Given the description of an element on the screen output the (x, y) to click on. 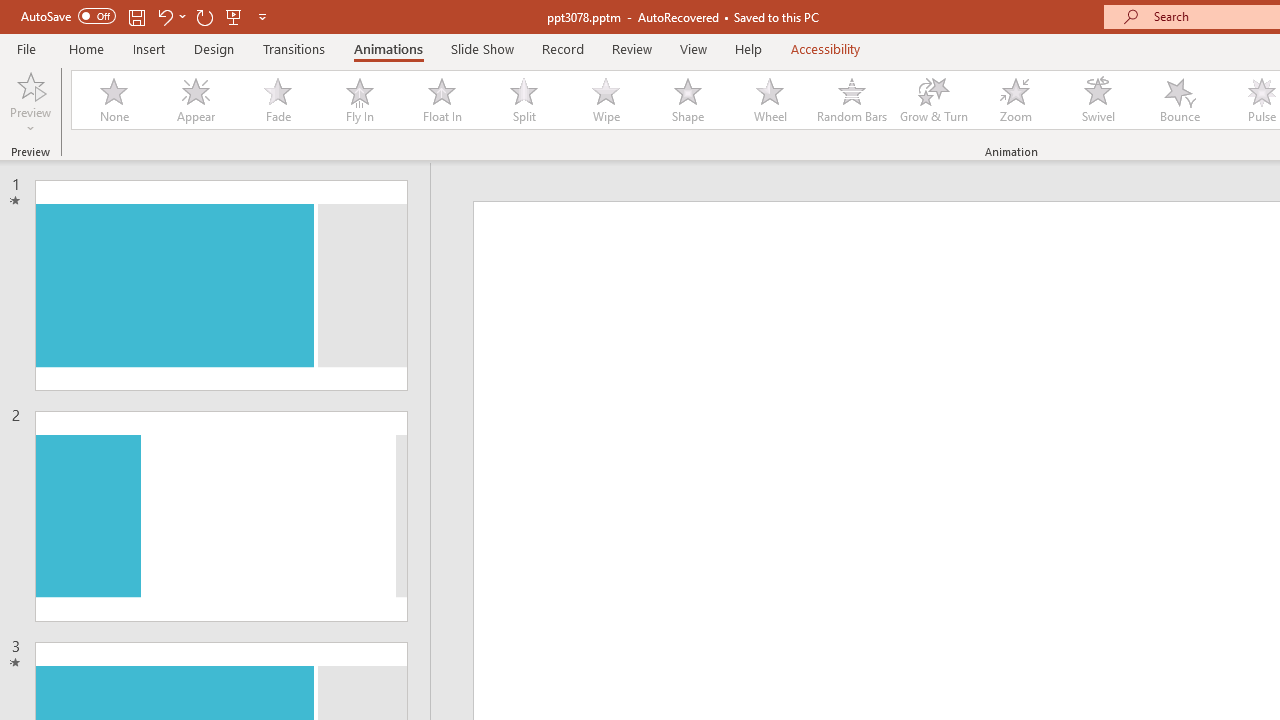
Wipe (605, 100)
Random Bars (852, 100)
Float In (441, 100)
Wheel (770, 100)
Fade (277, 100)
